Given the description of an element on the screen output the (x, y) to click on. 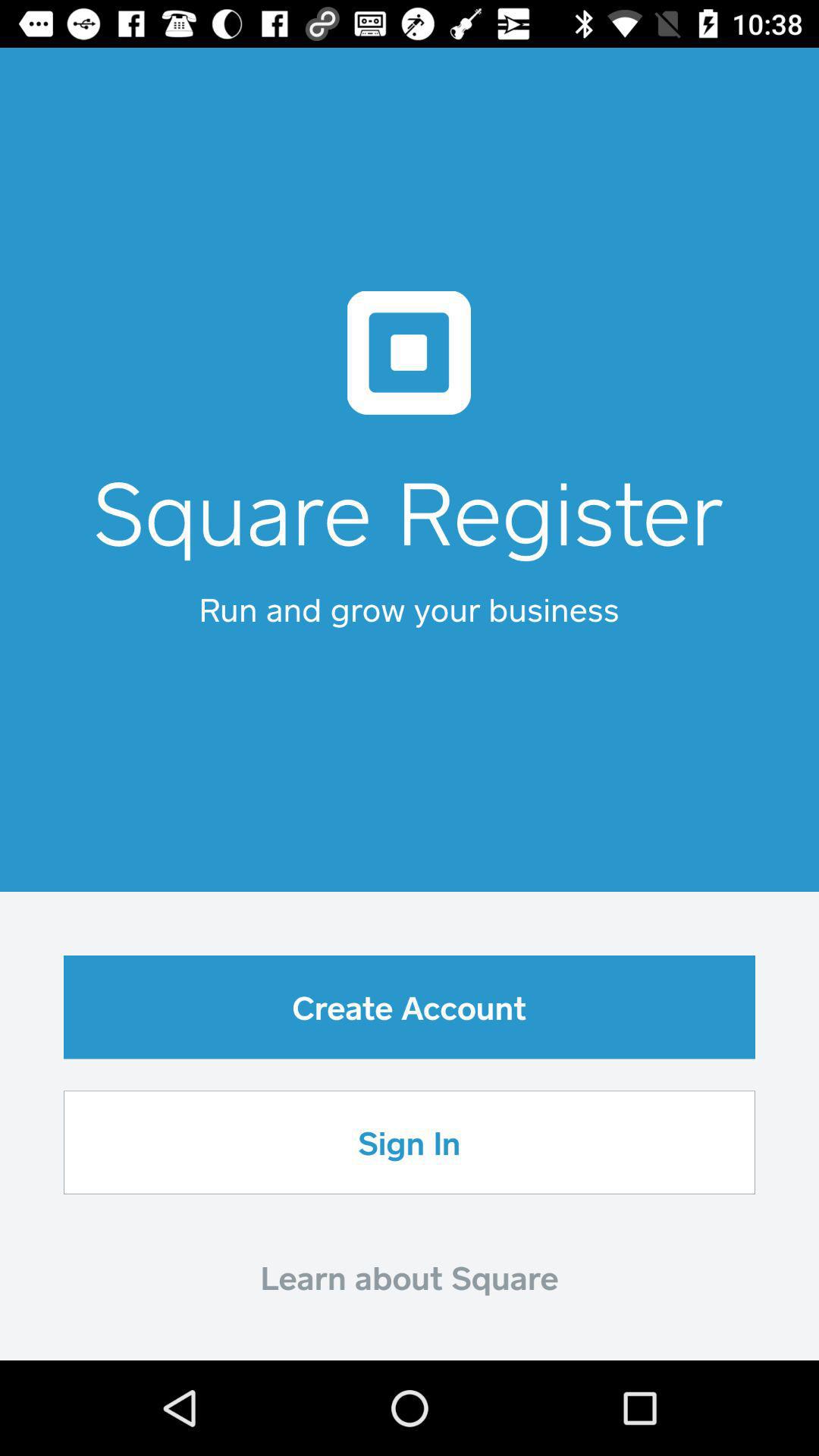
tap the item below create account icon (409, 1142)
